Given the description of an element on the screen output the (x, y) to click on. 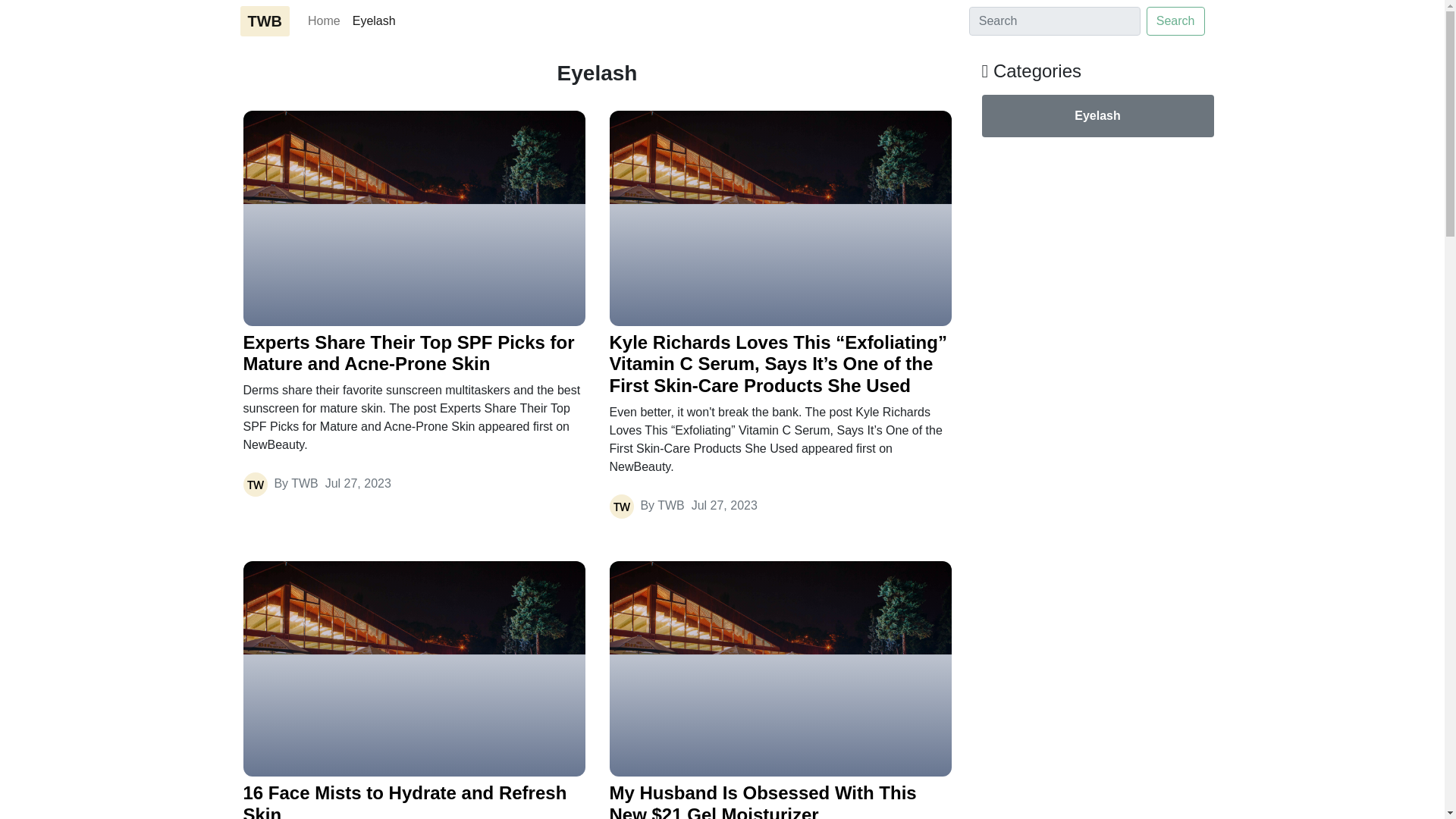
Eyelash (1096, 116)
Eyelash (373, 20)
Search (1176, 21)
TWB (264, 20)
16 Face Mists to Hydrate and Refresh Skin (414, 800)
Home (323, 20)
